Given the description of an element on the screen output the (x, y) to click on. 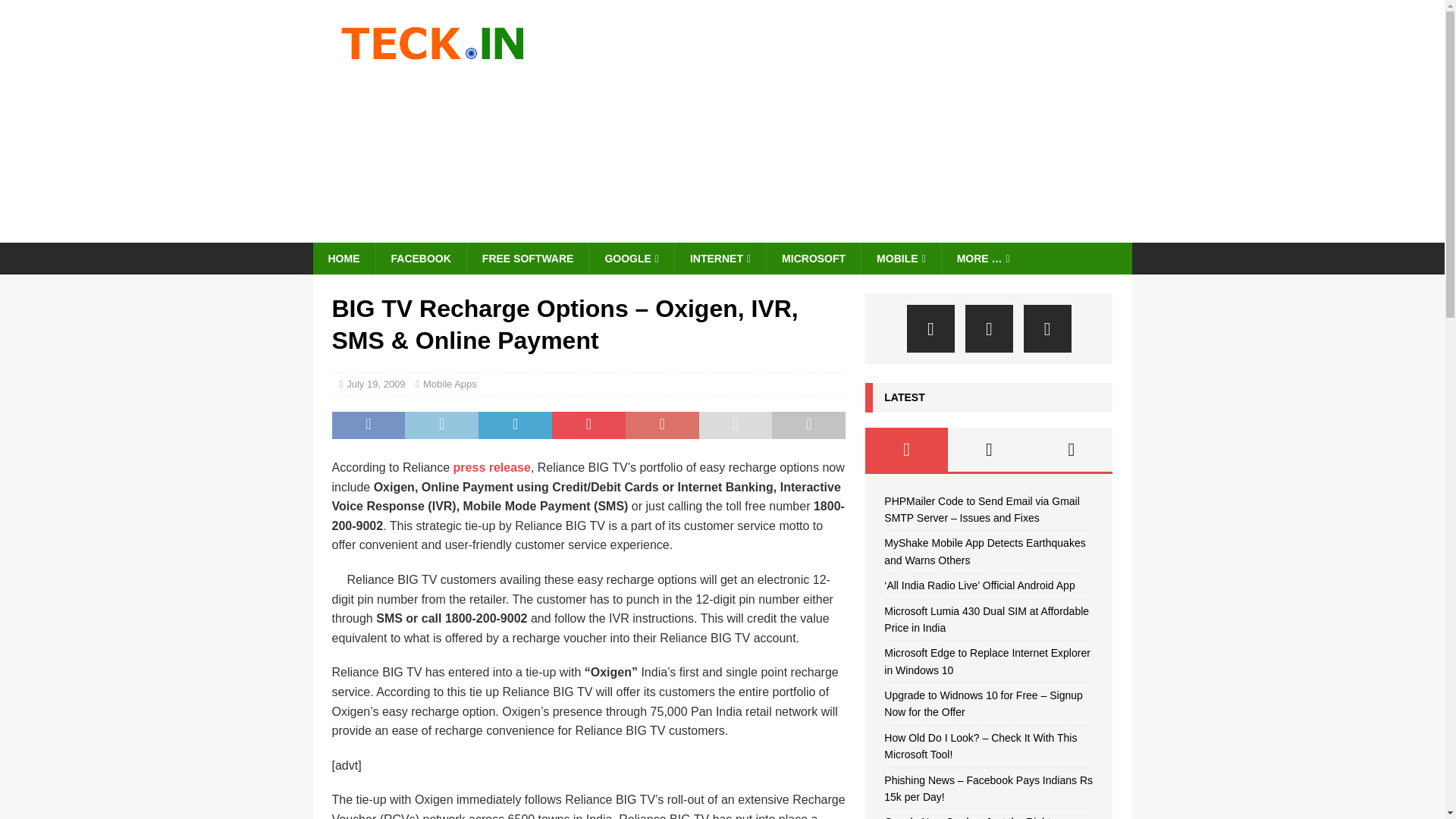
GOOGLE (631, 258)
INTERNET (719, 258)
Advertisement (854, 121)
FACEBOOK (419, 258)
FREE SOFTWARE (527, 258)
HOME (343, 258)
